Given the description of an element on the screen output the (x, y) to click on. 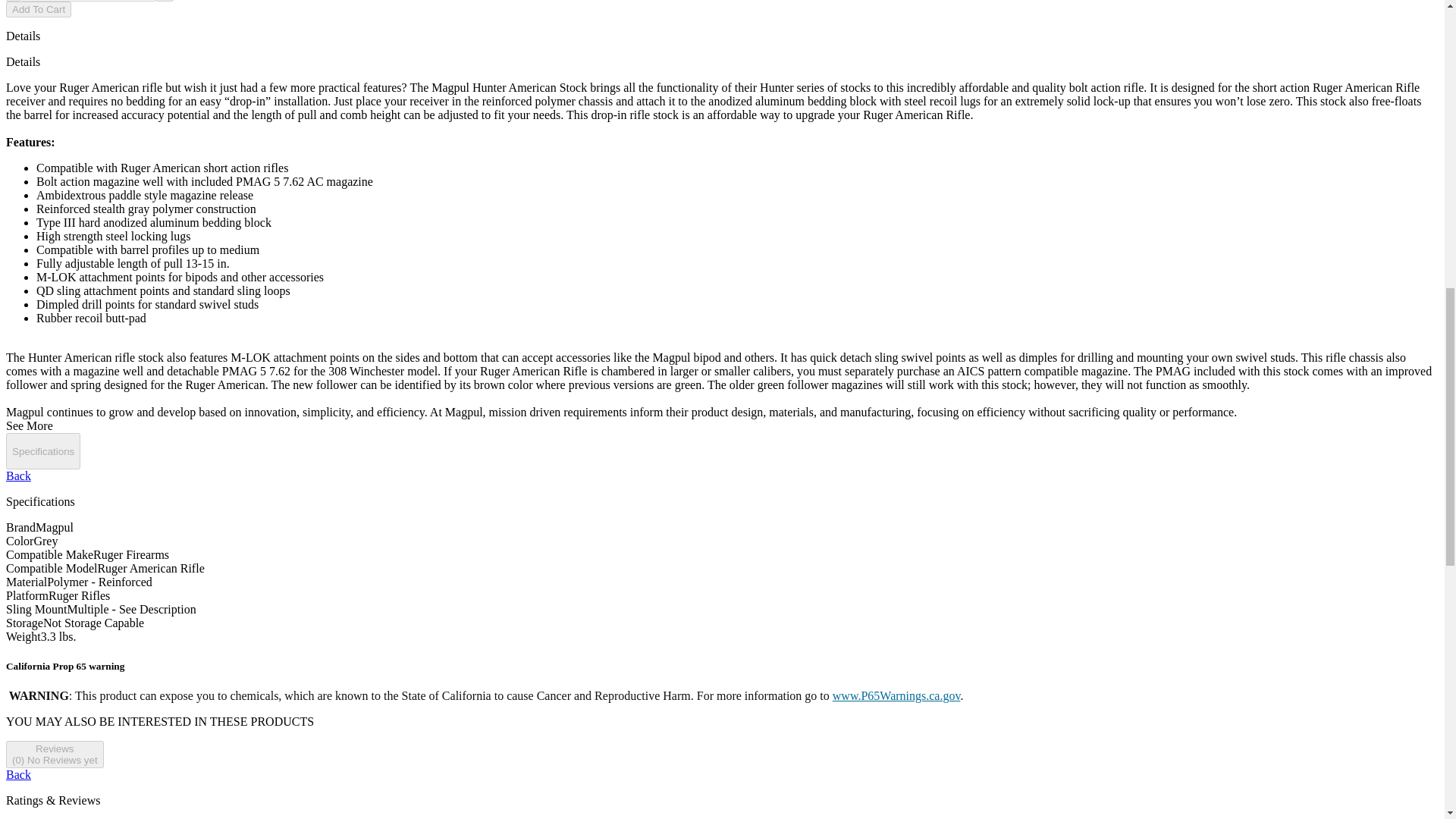
1 (88, 0)
www.P65Warnings.ca.gov (896, 695)
Add To Cart (38, 9)
Specifications (42, 451)
Back (17, 774)
See More (28, 425)
Back (17, 475)
